Given the description of an element on the screen output the (x, y) to click on. 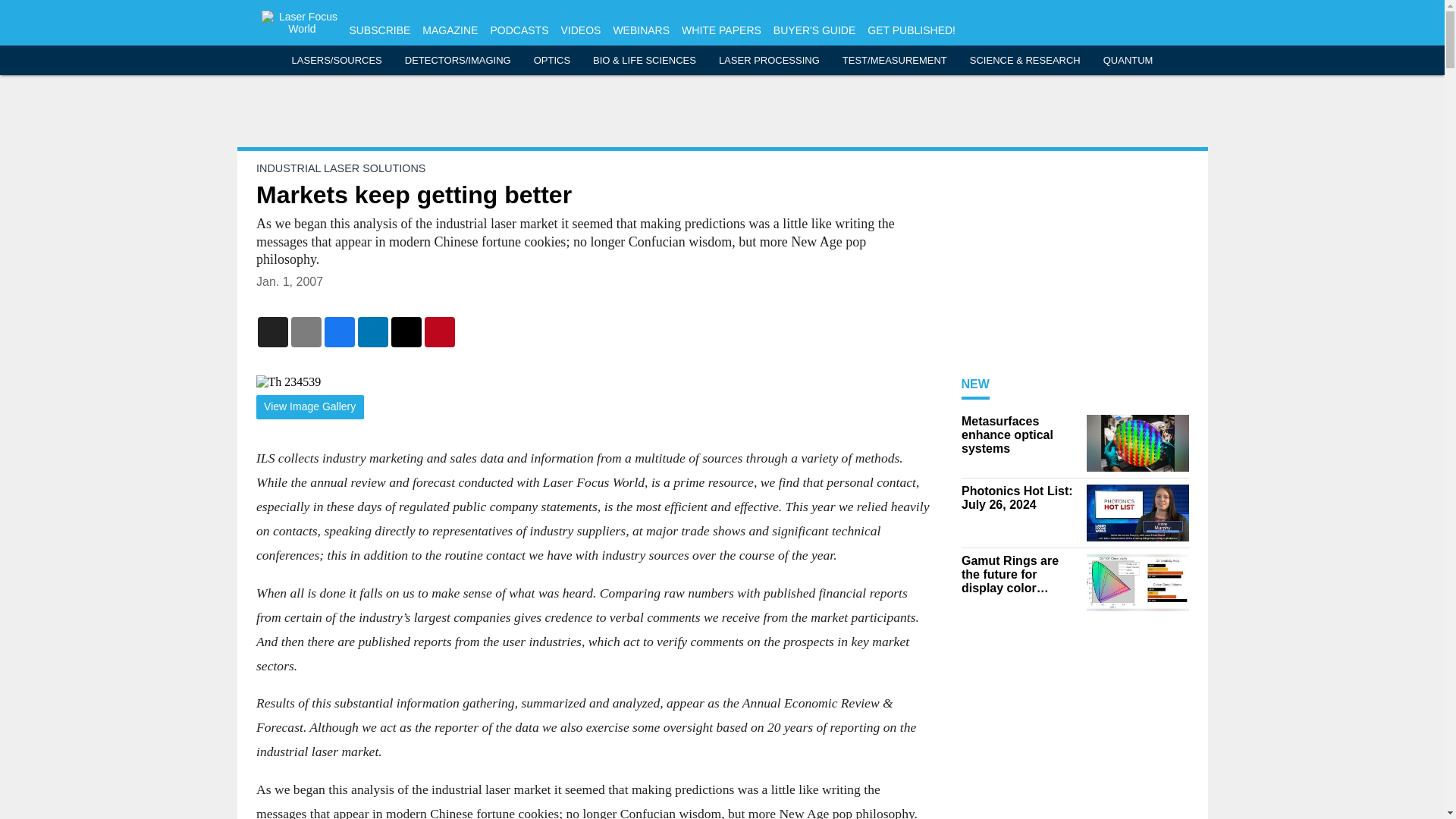
View Image Gallery (310, 407)
INDUSTRIAL LASER SOLUTIONS (340, 168)
Th 234539 (593, 382)
WEBINARS (640, 30)
OPTICS (552, 60)
SUBSCRIBE (379, 30)
QUANTUM (1128, 60)
BUYER'S GUIDE (814, 30)
MAGAZINE (449, 30)
WHITE PAPERS (721, 30)
VIDEOS (579, 30)
PODCASTS (518, 30)
LASER PROCESSING (769, 60)
GET PUBLISHED! (911, 30)
